Given the description of an element on the screen output the (x, y) to click on. 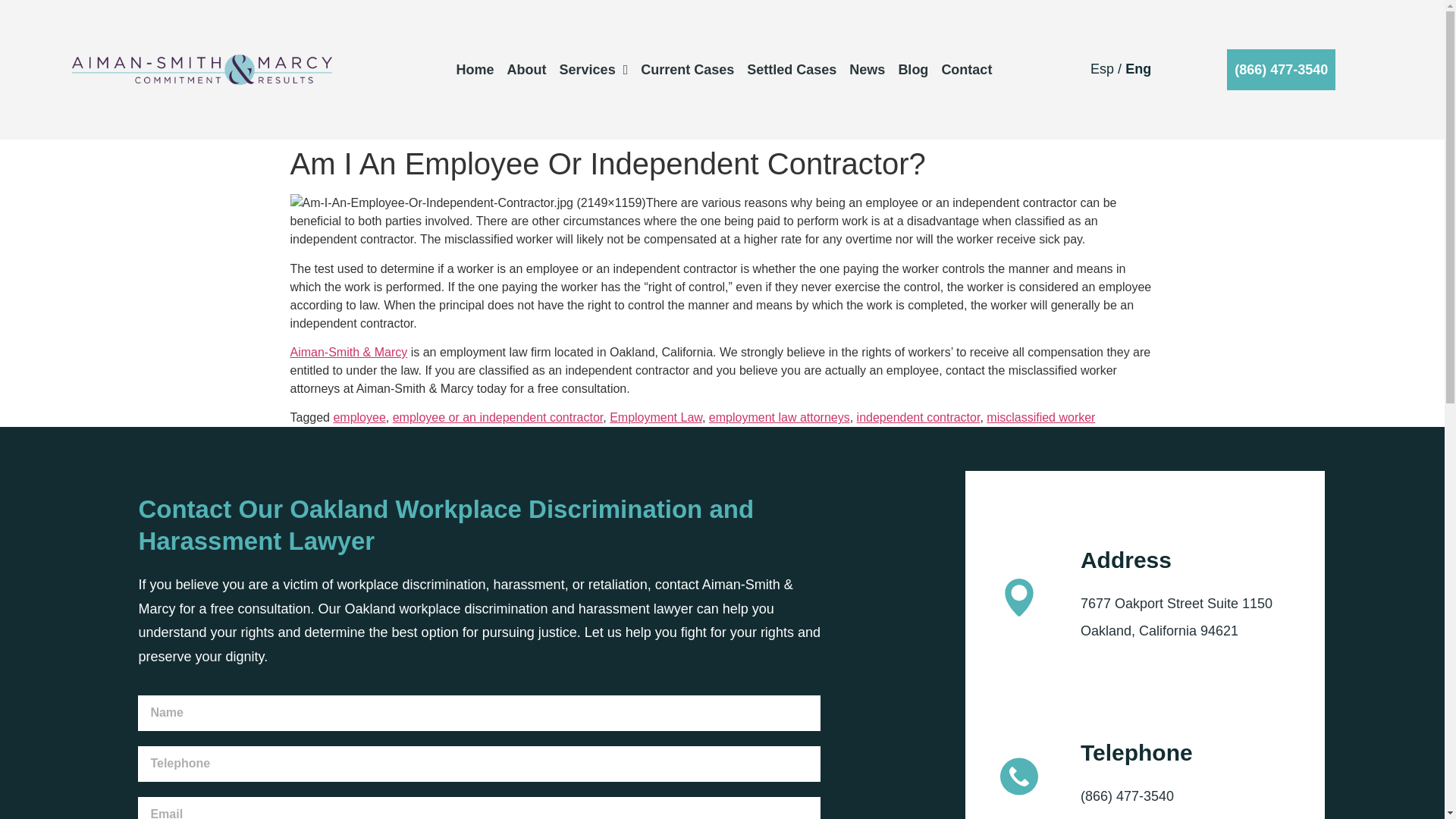
Current Cases (686, 69)
employee or an independent contractor (498, 417)
Services (593, 69)
Employment Law (655, 417)
Home (476, 69)
independent contractor (918, 417)
Blog (913, 69)
Aiman (306, 351)
employee (359, 417)
employment law attorneys (779, 417)
About (526, 69)
Contact (965, 69)
misclassified worker (1040, 417)
News (866, 69)
Settled Cases (790, 69)
